Given the description of an element on the screen output the (x, y) to click on. 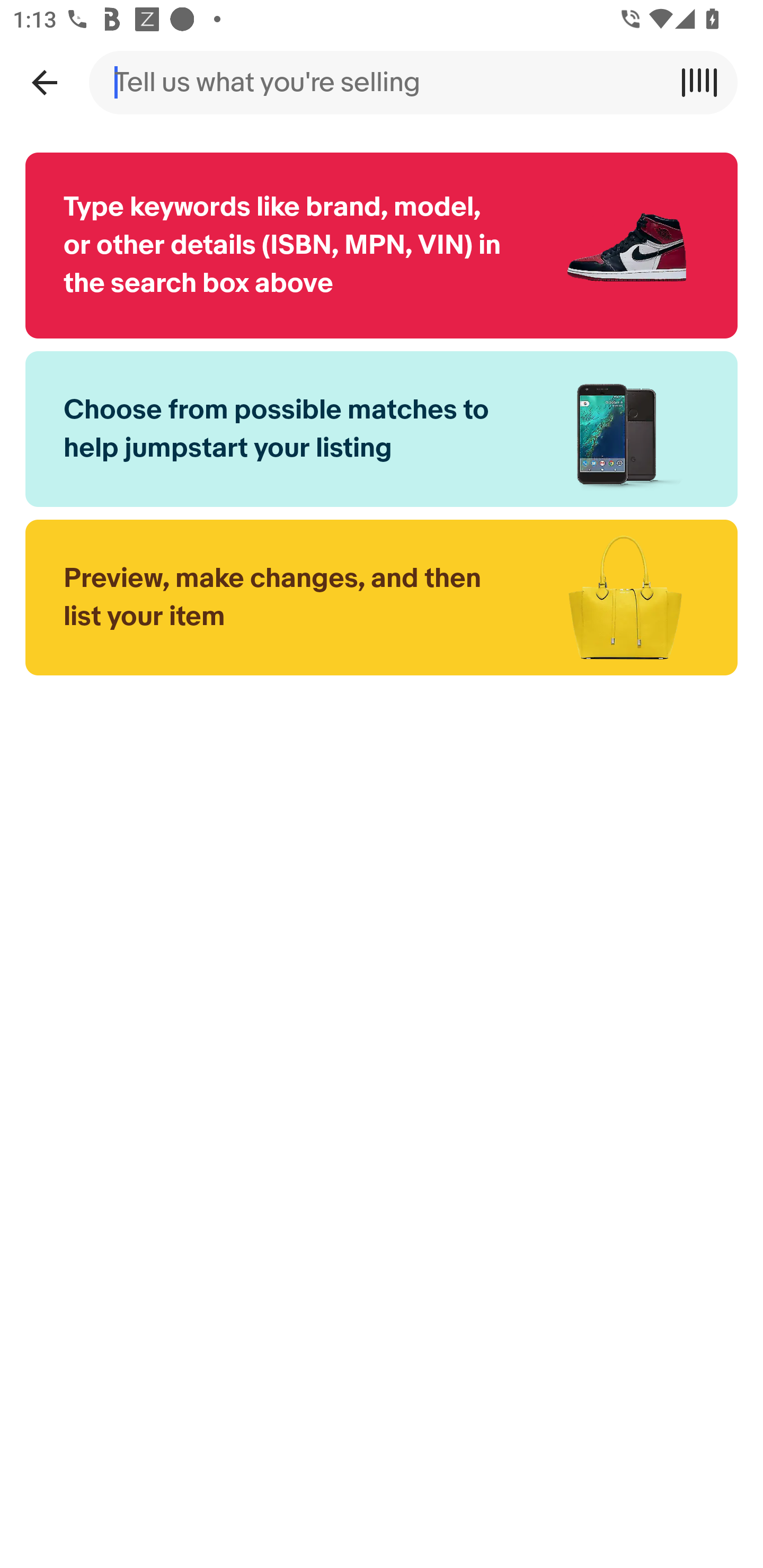
Navigate up (44, 82)
Scan a barcode (705, 82)
Tell us what you're selling (381, 82)
